Given the description of an element on the screen output the (x, y) to click on. 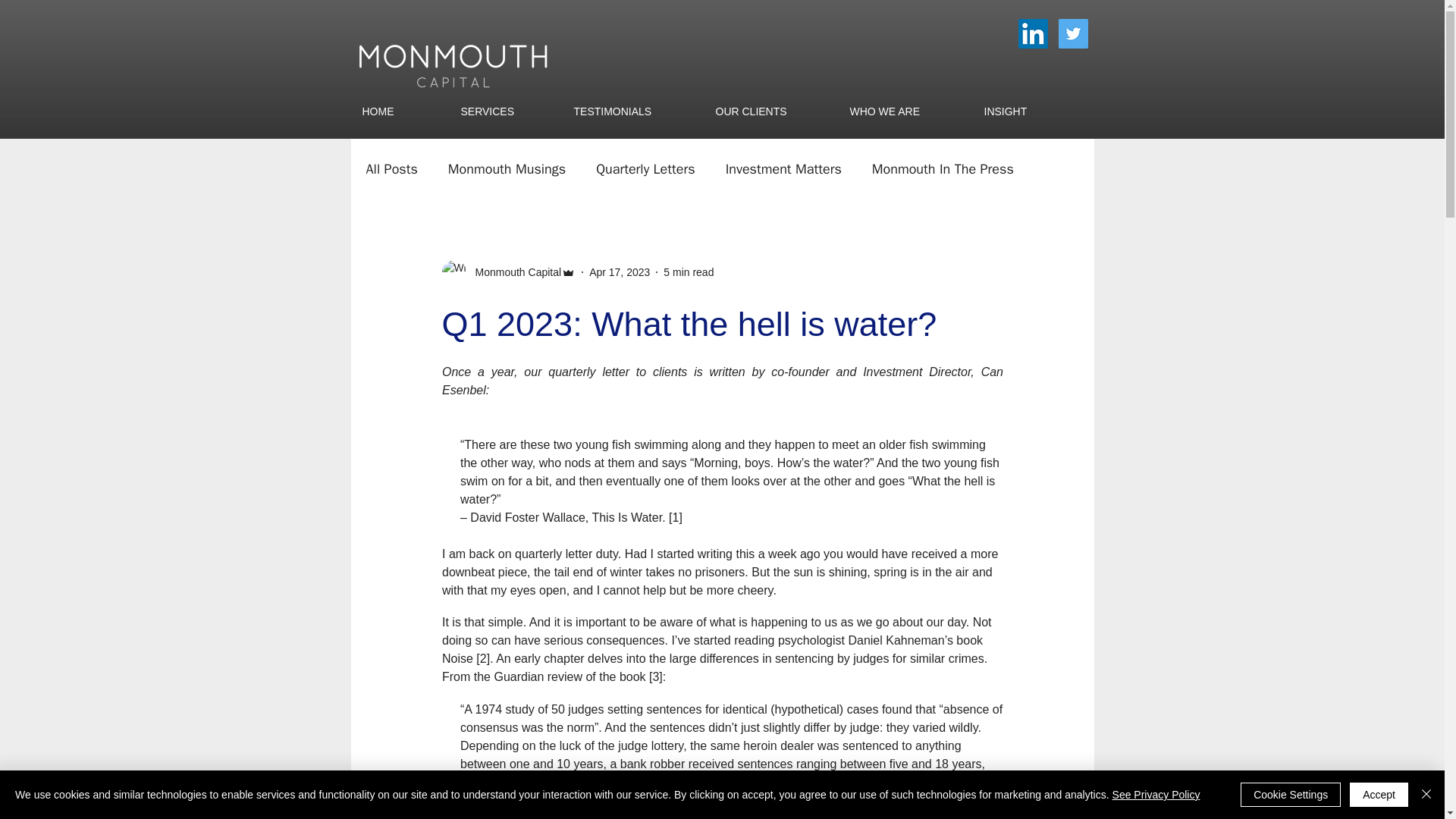
Monmouth In The Press (942, 168)
SERVICES (505, 111)
Quarterly Letters (644, 168)
Monmouth Musings (507, 168)
5 min read (688, 271)
HOME (399, 111)
WHO WE ARE (905, 111)
OUR CLIENTS (770, 111)
INSIGHT (1026, 111)
See Privacy Policy (1155, 794)
